Given the description of an element on the screen output the (x, y) to click on. 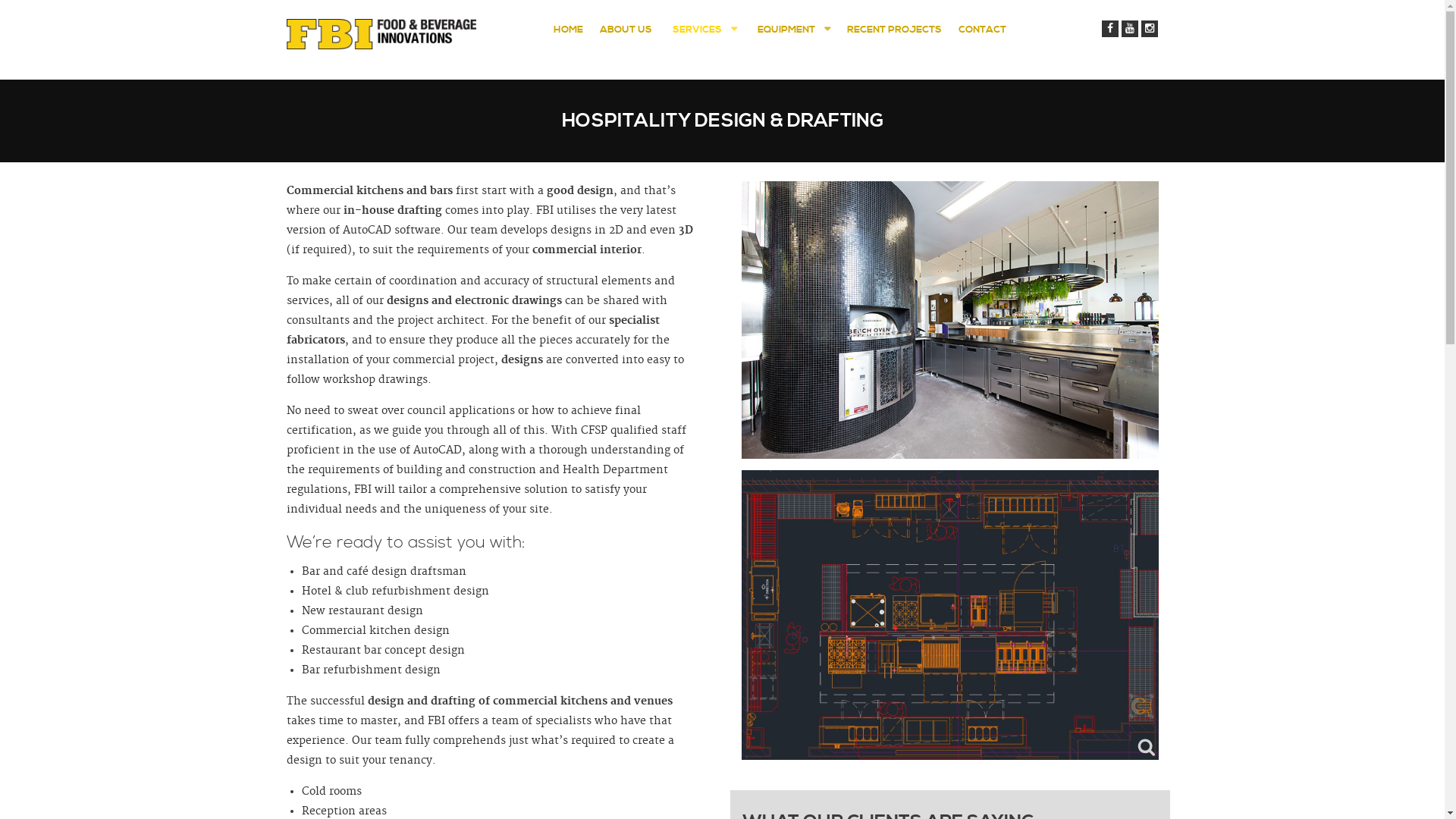
EQUIPMENT Element type: text (791, 29)
CONTACT Element type: text (981, 29)
RECENT PROJECTS Element type: text (893, 29)
HOME Element type: text (568, 29)
SERVICES Element type: text (702, 29)
ABOUT US Element type: text (624, 29)
